Given the description of an element on the screen output the (x, y) to click on. 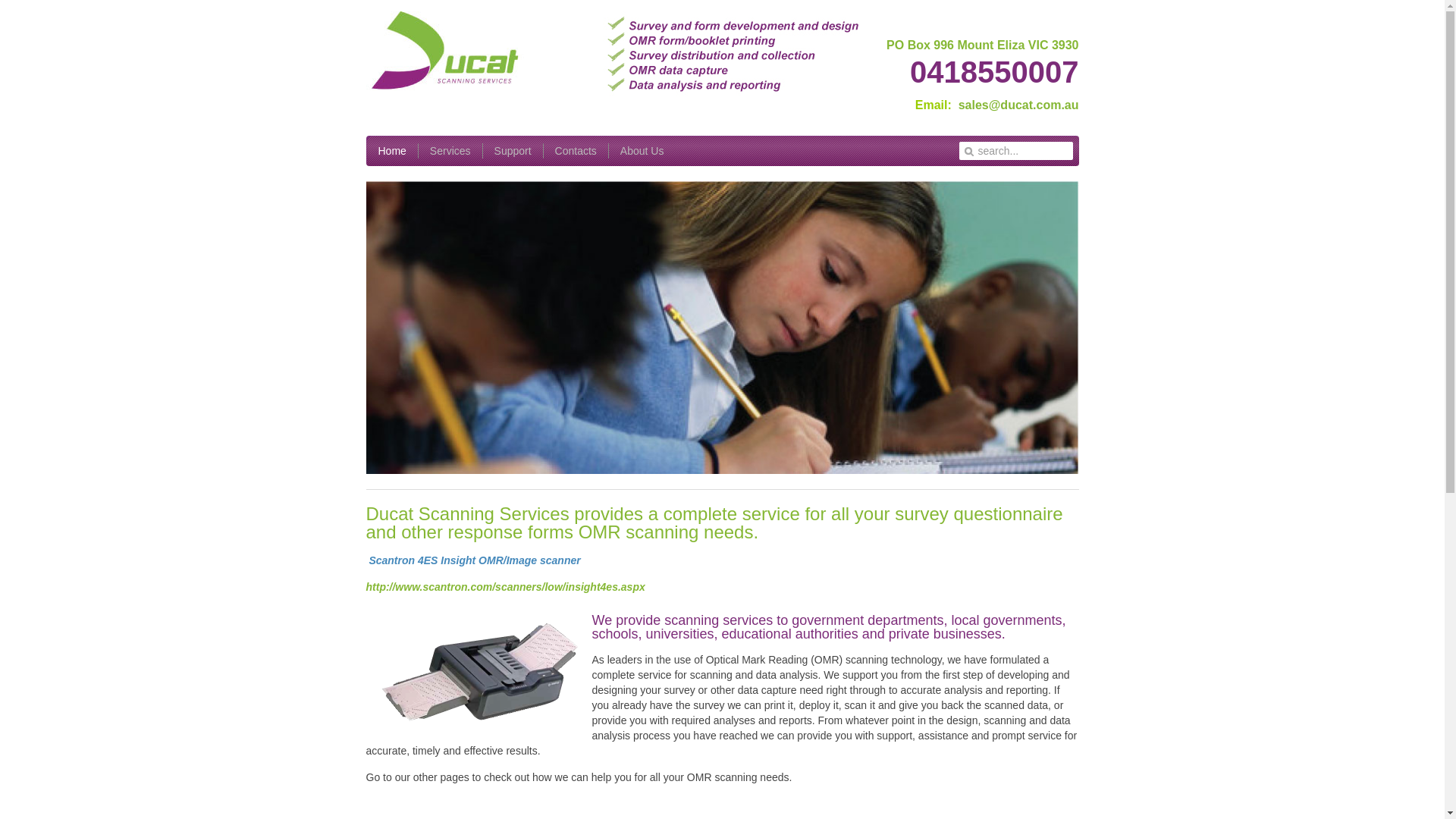
http://www.scantron.com/scanners/low/insight4es.aspx Element type: text (504, 586)
Services Element type: text (449, 150)
Support Element type: text (512, 150)
Contacts Element type: text (575, 150)
Home Element type: text (391, 150)
About Us Element type: text (641, 150)
Reset Element type: text (3, 3)
sales@ducat.com.au Element type: text (1018, 104)
